Given the description of an element on the screen output the (x, y) to click on. 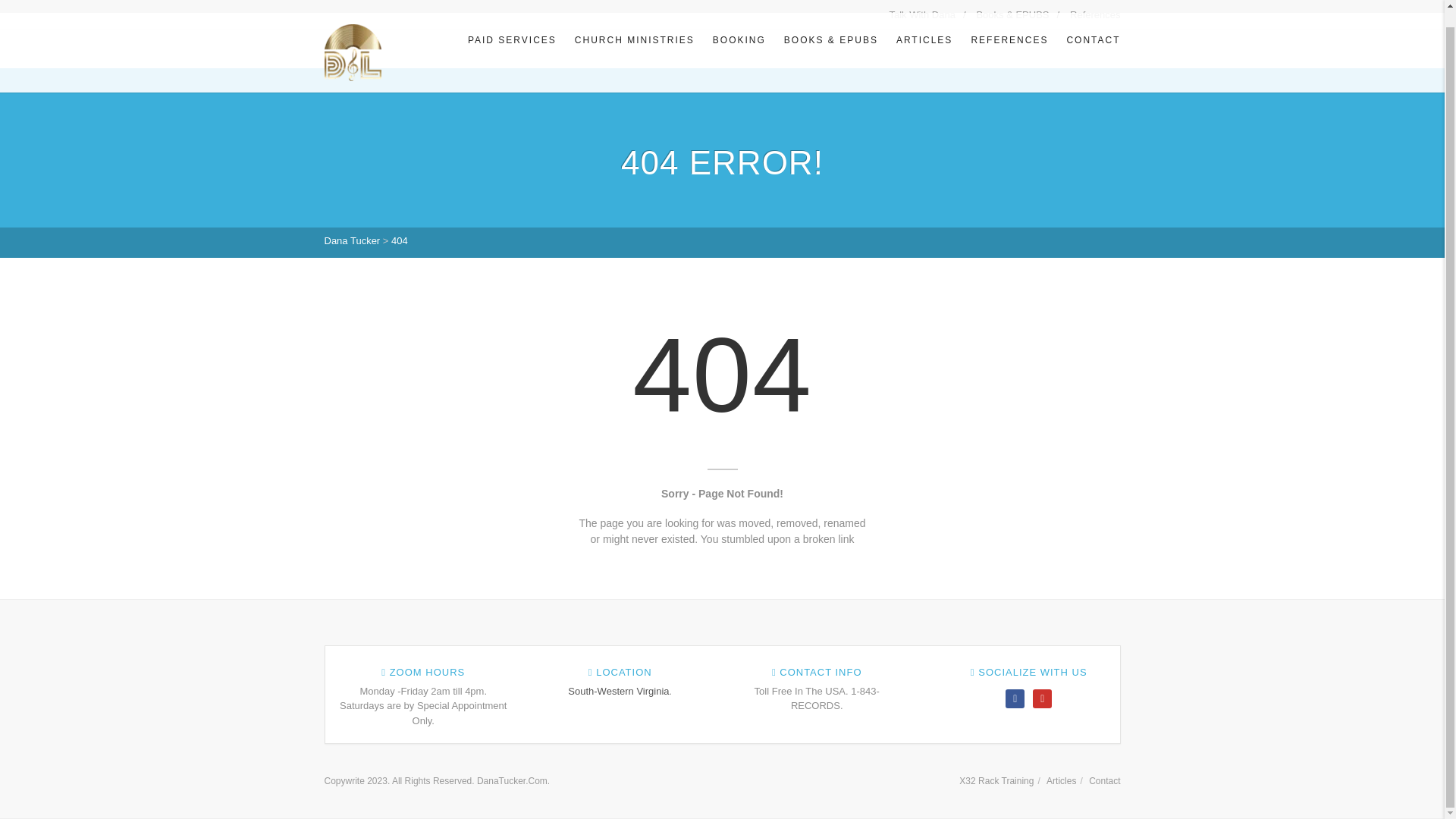
REFERENCES (1008, 40)
Contact (1104, 780)
PAID SERVICES (512, 40)
ARTICLES (923, 40)
Go to Dana Tucker. (352, 240)
Logo (352, 52)
Map of Southwestern Virginia. (617, 690)
References (1094, 6)
South-Western Virginia (617, 690)
404 (399, 240)
